Given the description of an element on the screen output the (x, y) to click on. 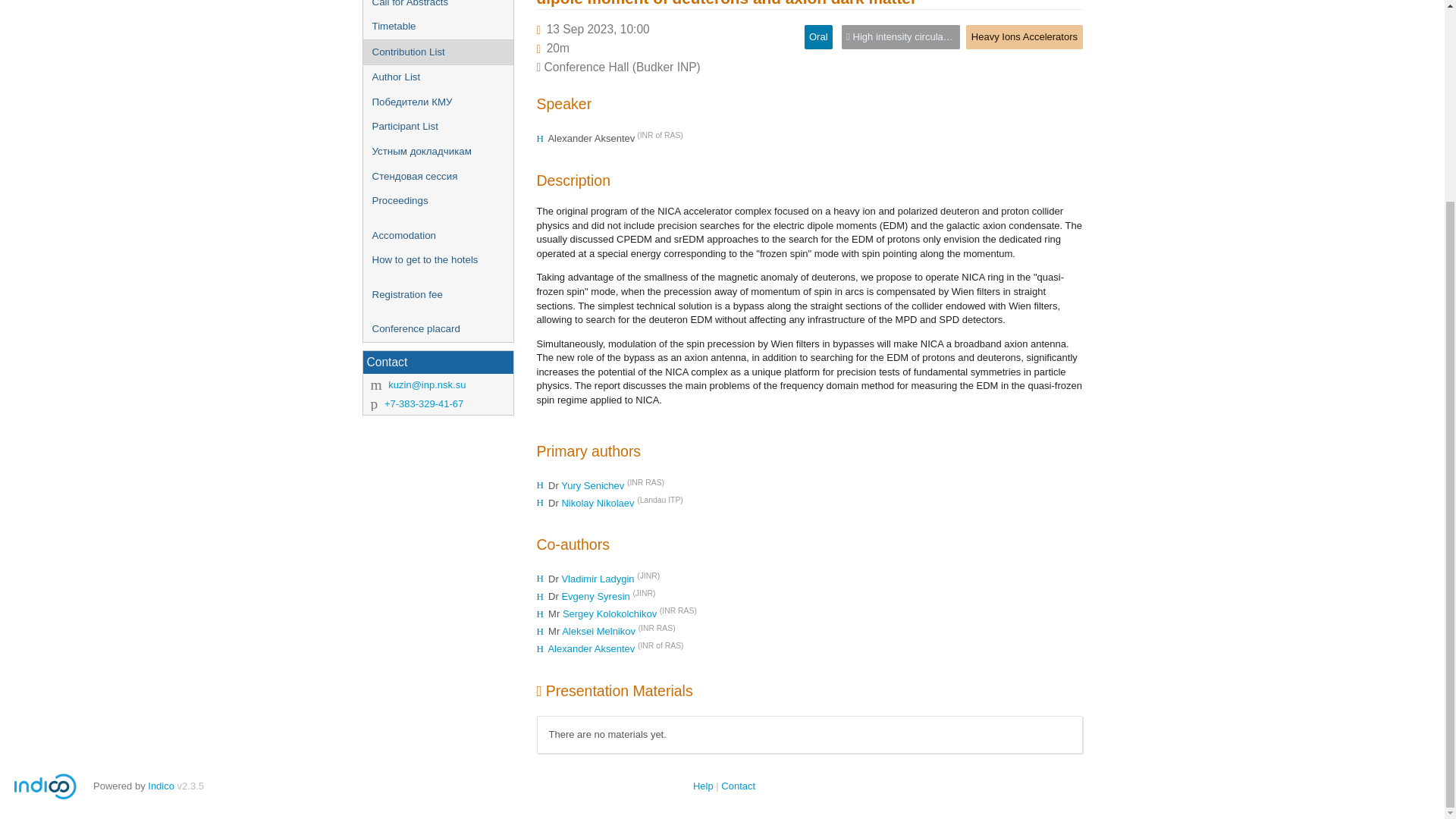
Contribution List (437, 52)
Call for Abstracts (437, 7)
Author List (437, 77)
Timetable (437, 26)
Participant List (437, 126)
Duration (558, 47)
